Given the description of an element on the screen output the (x, y) to click on. 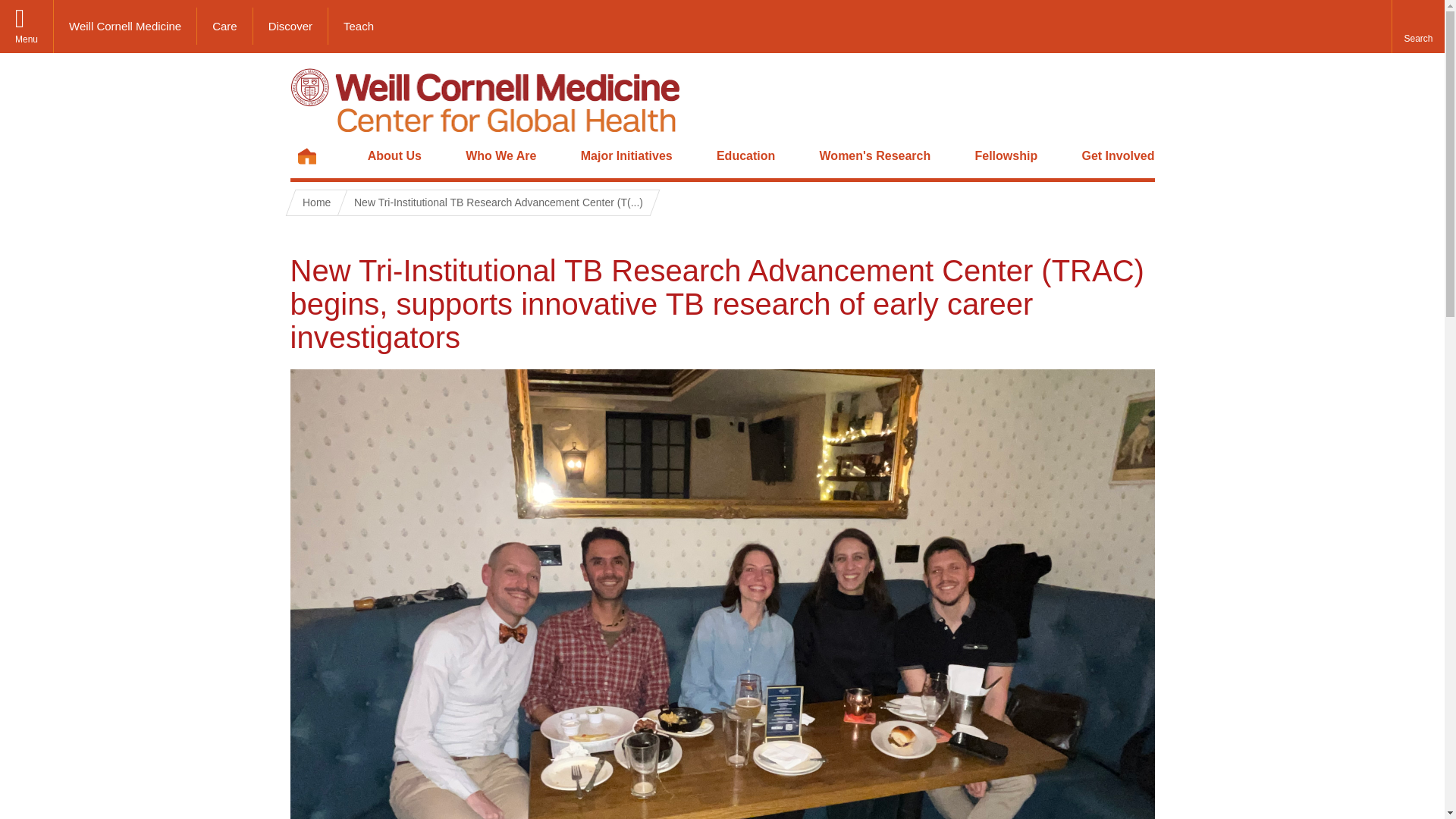
Discover (291, 26)
Care (224, 26)
Teach (358, 26)
Weill Cornell Medicine (124, 26)
